Given the description of an element on the screen output the (x, y) to click on. 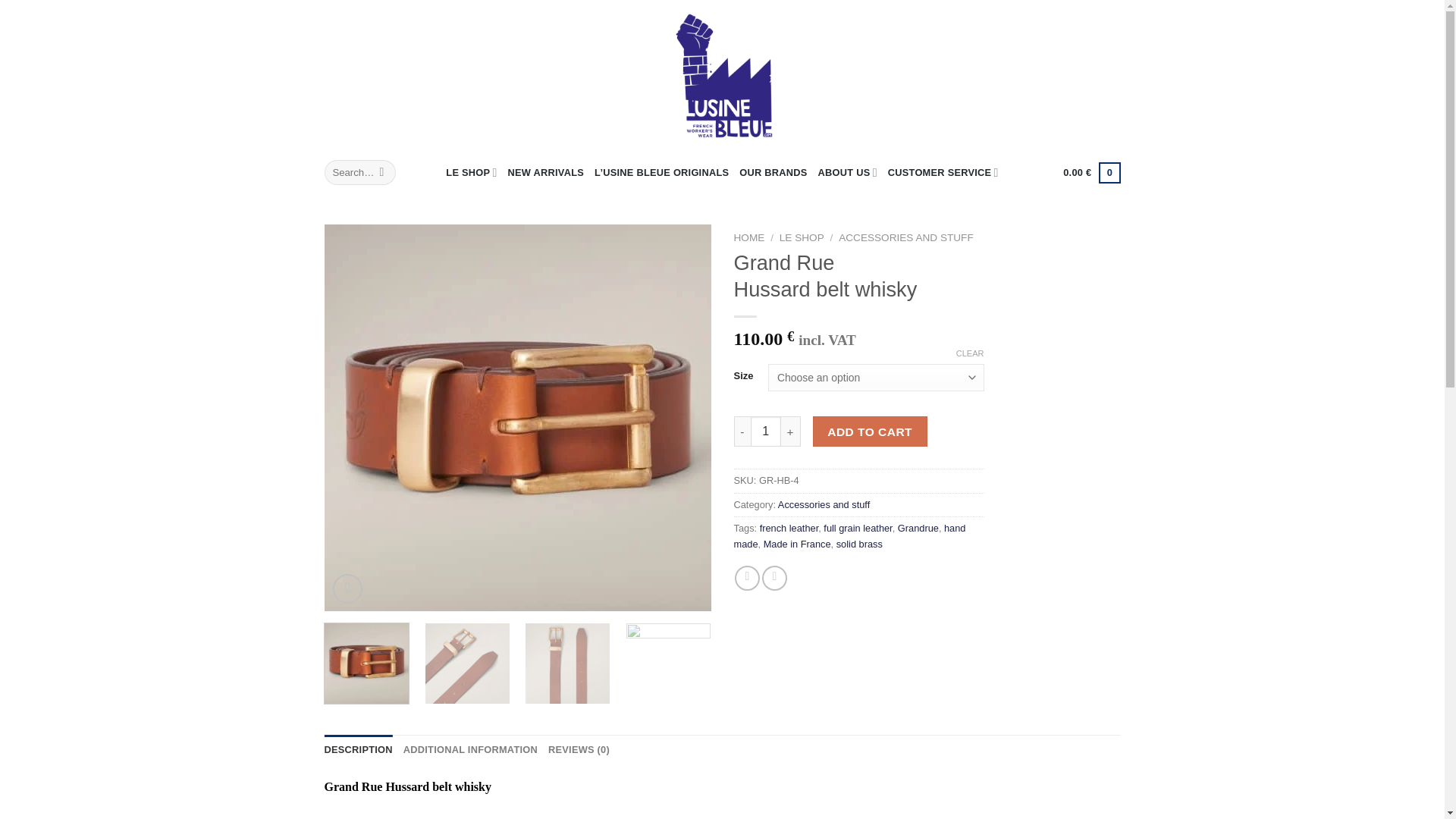
OUR BRANDS (772, 172)
1 (765, 431)
CUSTOMER SERVICE (943, 172)
LE SHOP (470, 172)
ABOUT US (847, 172)
Cart (1090, 172)
Email to a Friend (774, 577)
Search (381, 172)
NEW ARRIVALS (545, 172)
Zoom (347, 588)
